Given the description of an element on the screen output the (x, y) to click on. 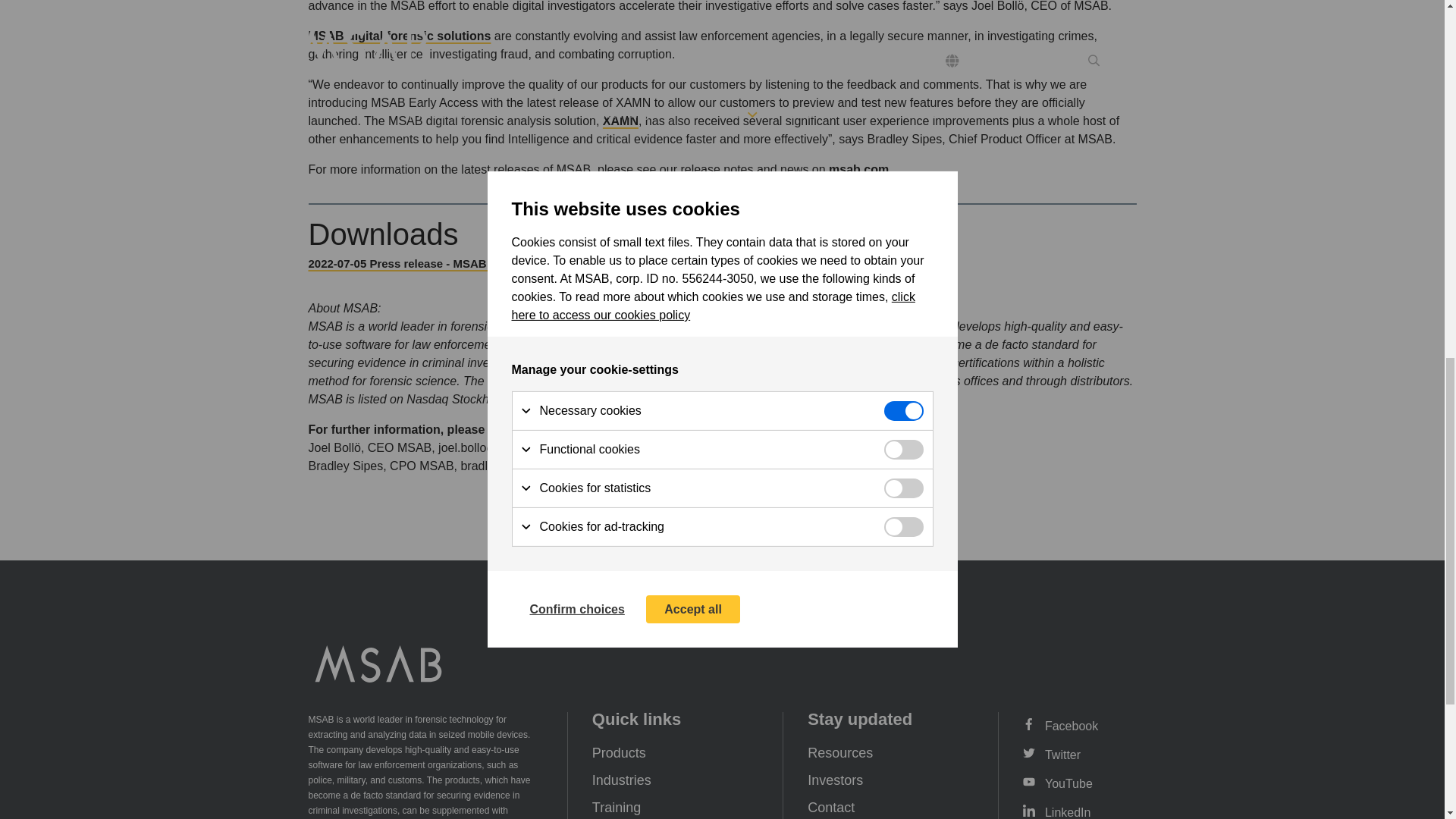
MSAB digital forensic solutions (398, 35)
